Given the description of an element on the screen output the (x, y) to click on. 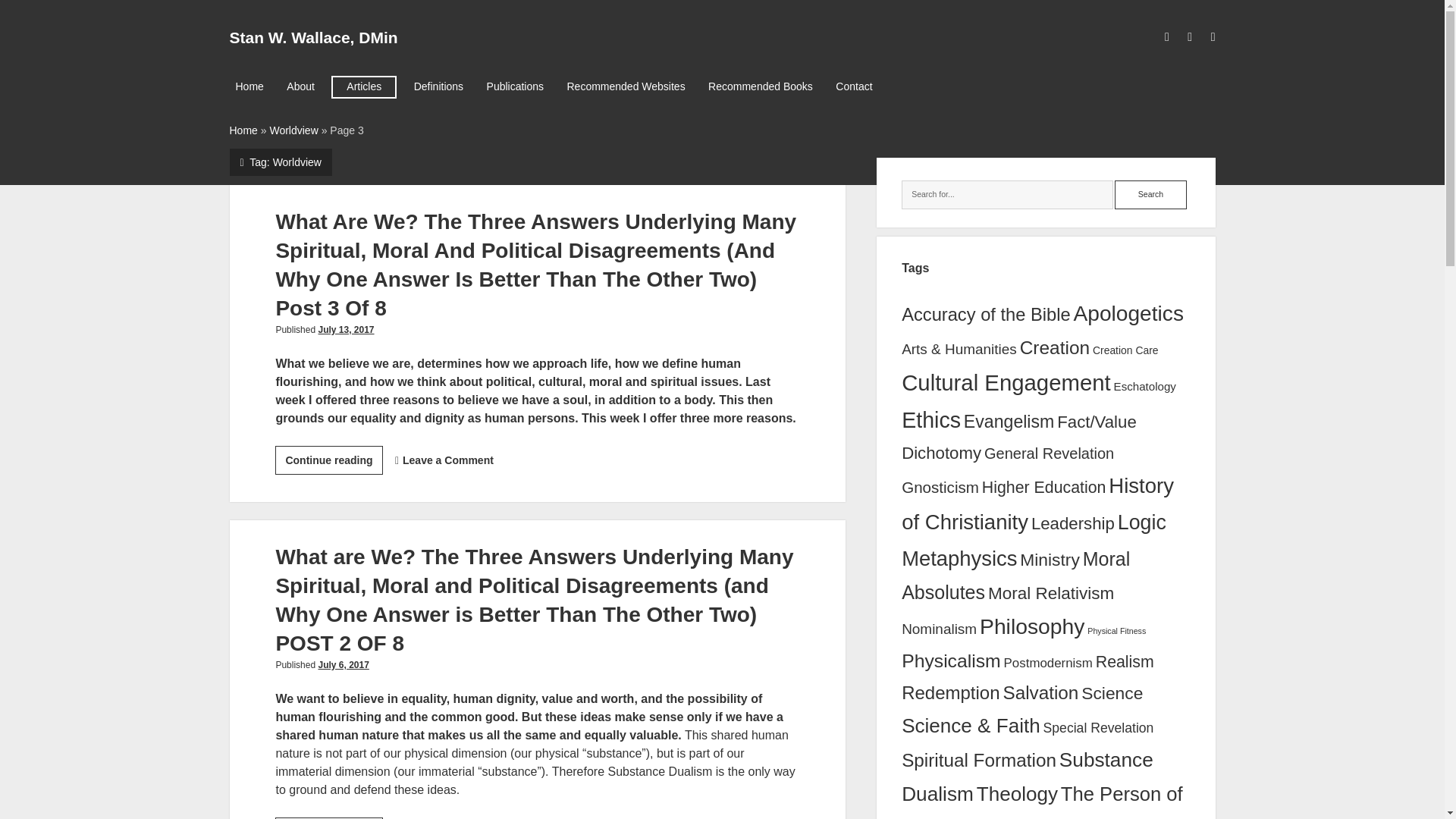
Home (242, 130)
About (300, 86)
Articles (363, 86)
Search for: (1007, 194)
Home (248, 86)
Worldview (293, 130)
Definitions (437, 86)
Recommended Websites (625, 86)
Search (1150, 194)
Recommended Books (759, 86)
